Given the description of an element on the screen output the (x, y) to click on. 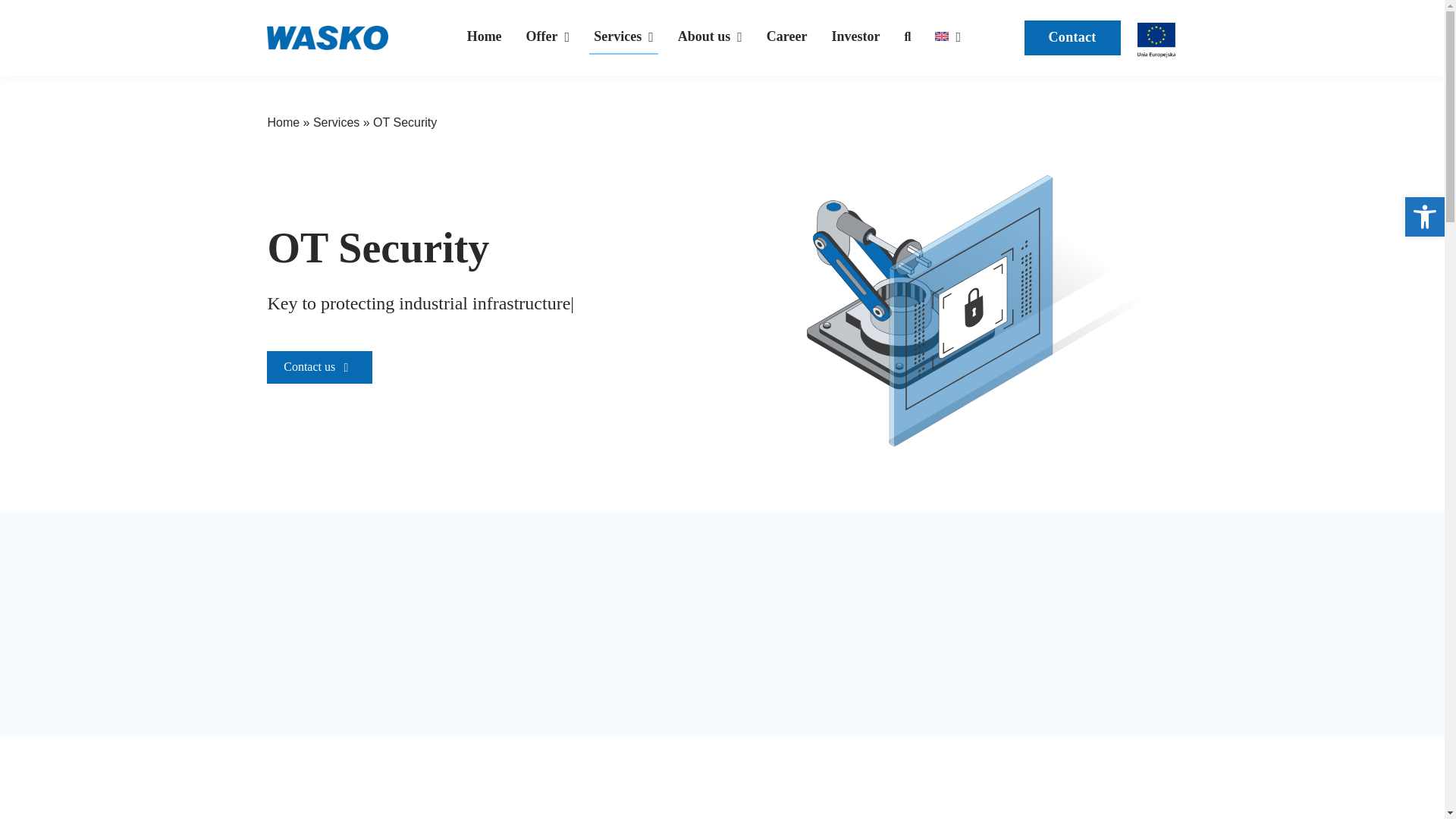
Offer (548, 37)
Home (484, 37)
Availability (1424, 216)
